Given the description of an element on the screen output the (x, y) to click on. 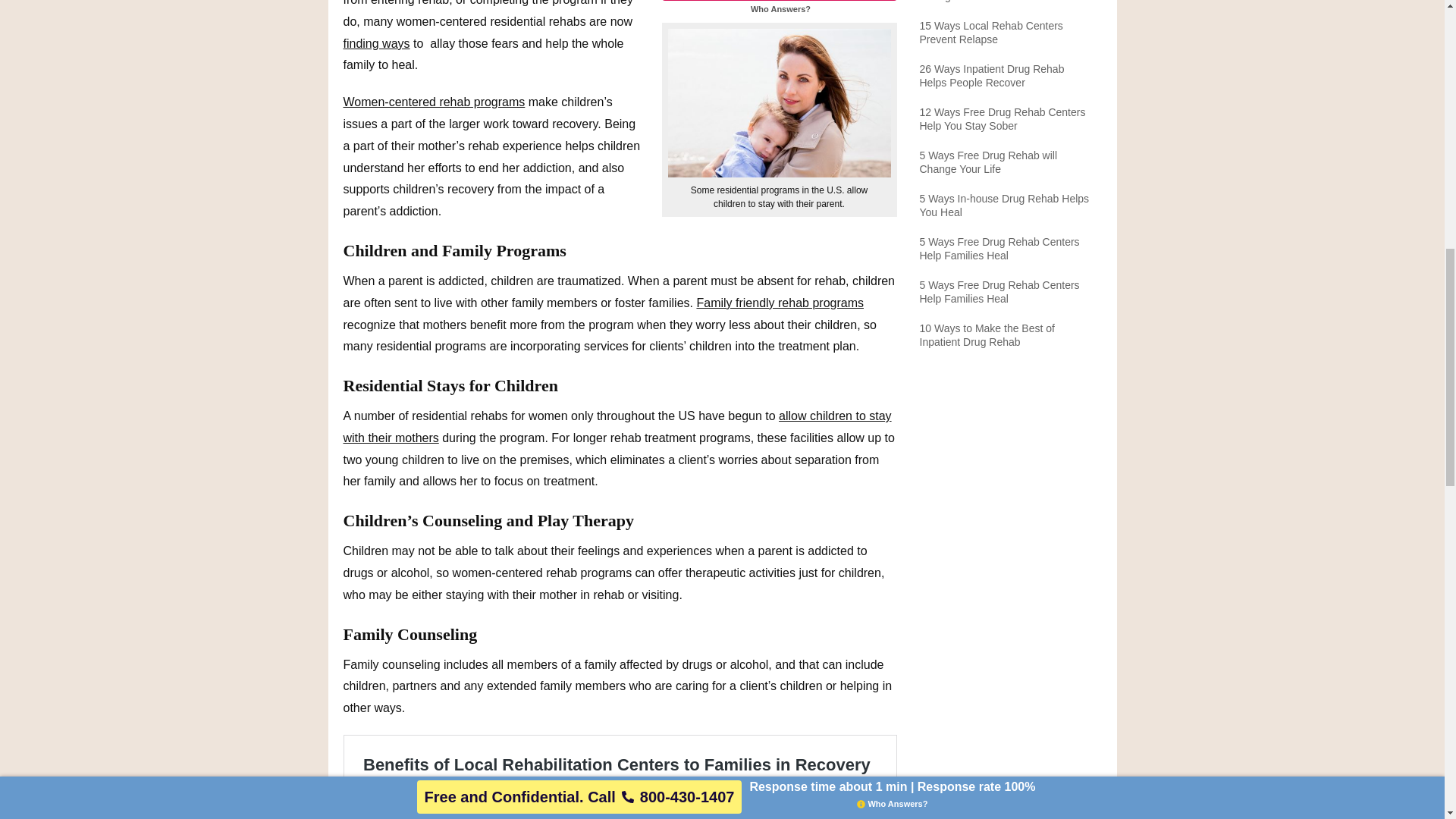
Family friendly rehab programs (779, 302)
finding ways (375, 42)
Women-centered rehab programs (433, 101)
allow children to stay with their mothers (616, 426)
